Given the description of an element on the screen output the (x, y) to click on. 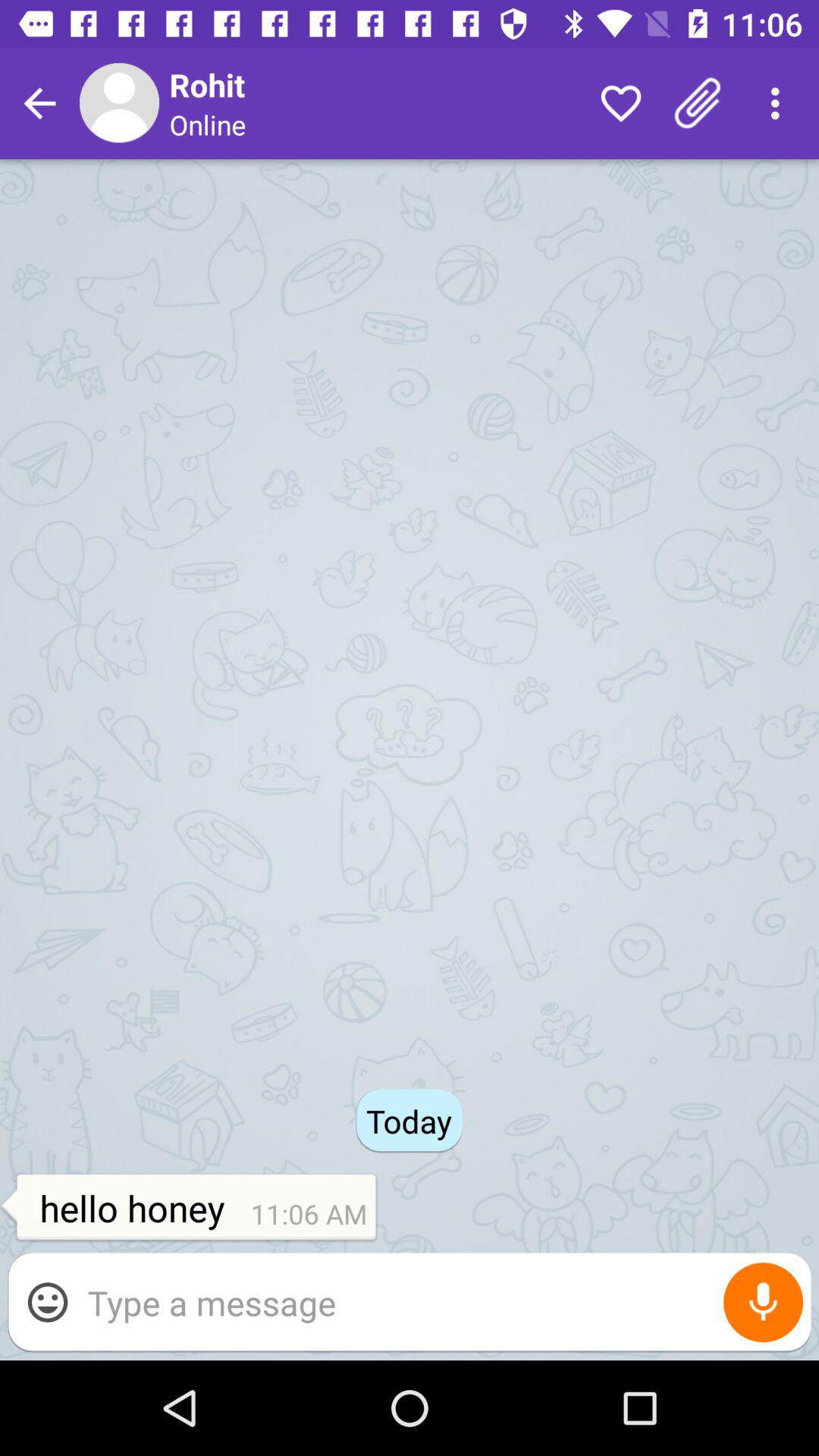
select the item at the bottom right corner (763, 1302)
